Given the description of an element on the screen output the (x, y) to click on. 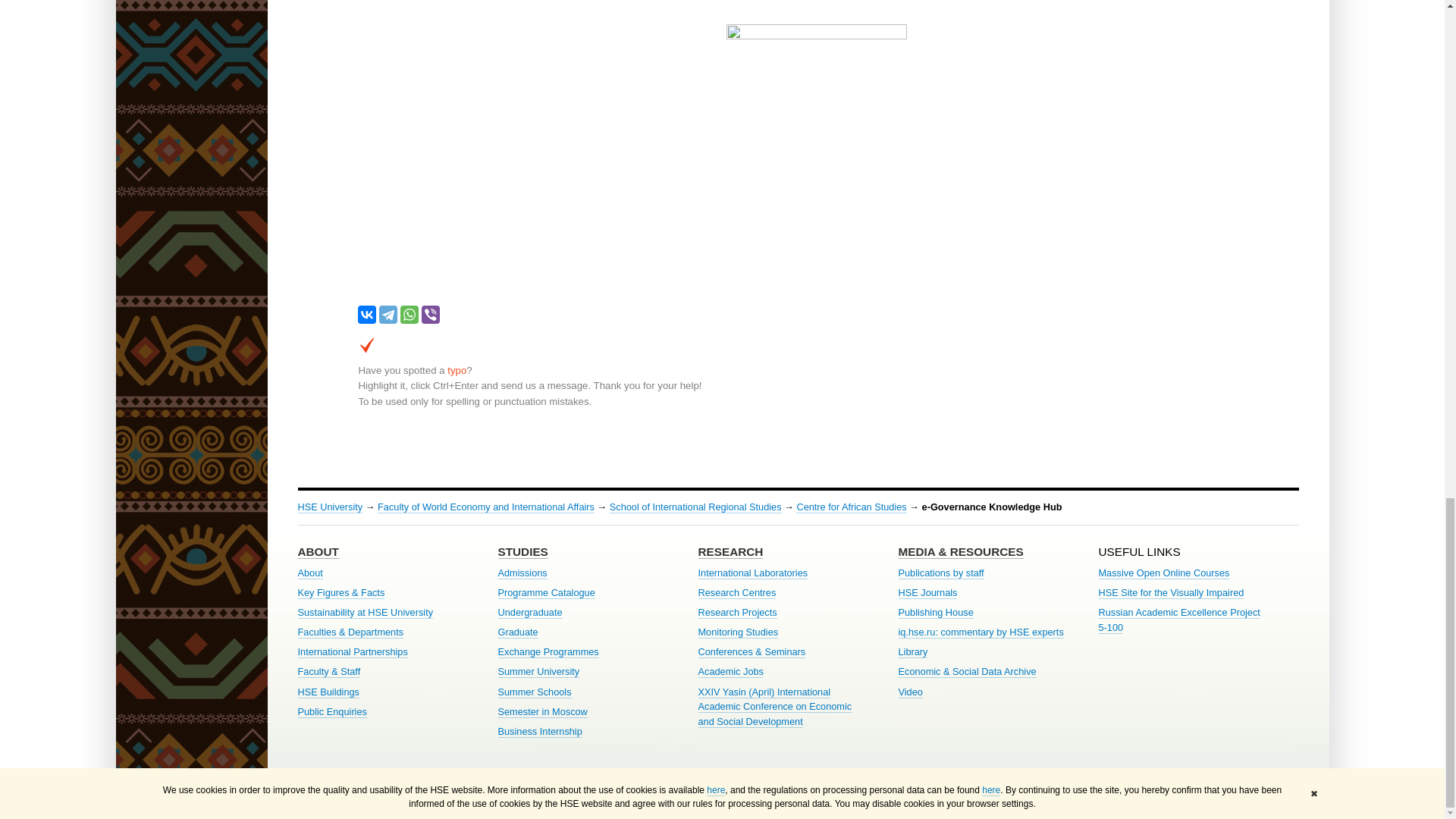
Viber (430, 314)
WhatsApp (409, 314)
Telegram (387, 314)
VKontakte (366, 314)
